Given the description of an element on the screen output the (x, y) to click on. 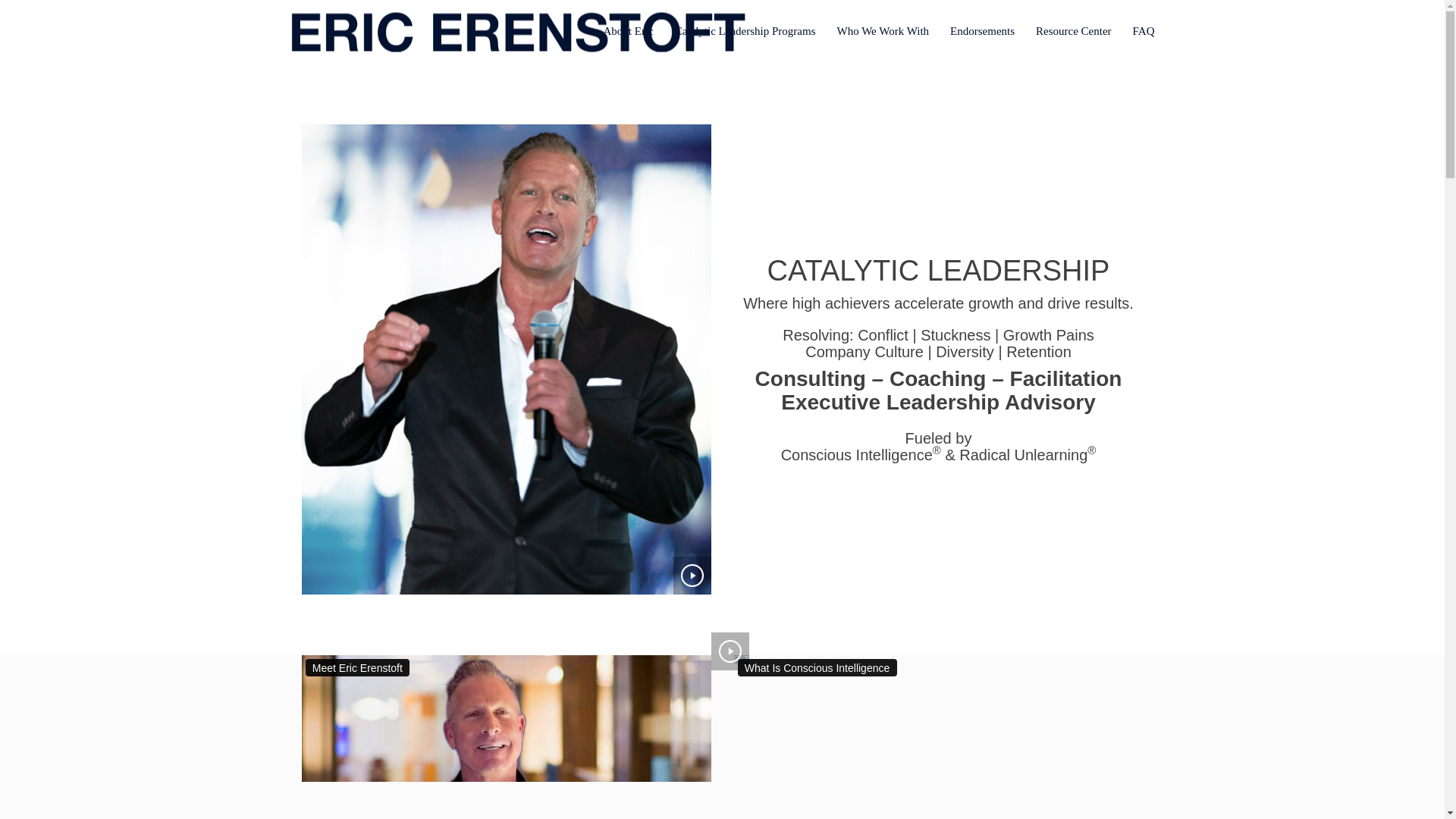
2024 What Is Conscious Intelligence 16x9 copy (741, 659)
About Eric (627, 31)
Catalytic Leadership Programs (745, 31)
Endorsements (982, 31)
Who We Work With (883, 31)
MEET ERIC ERENSTOFT (506, 737)
Resource Center (1073, 31)
